Given the description of an element on the screen output the (x, y) to click on. 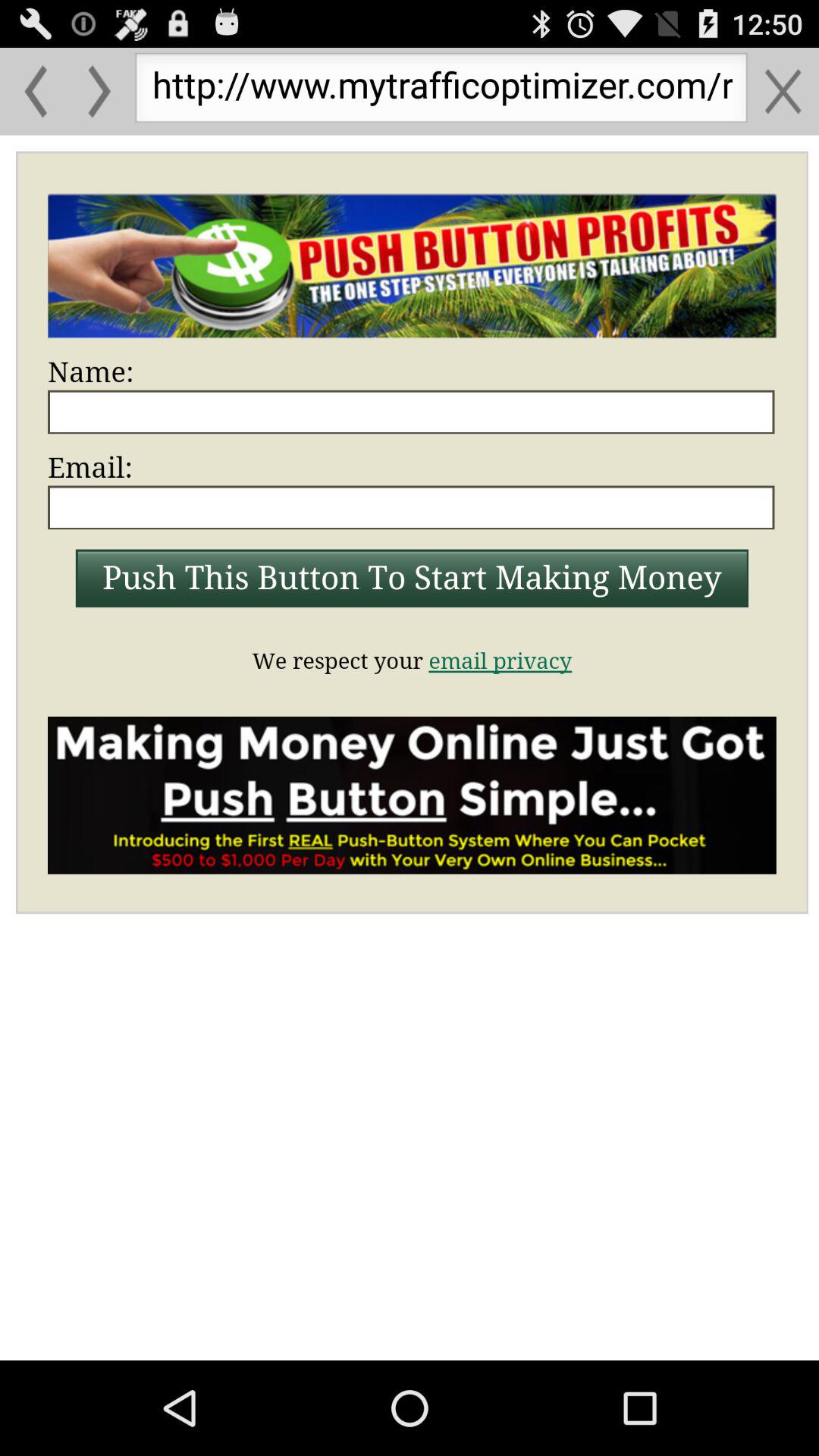
exit this window (783, 91)
